Given the description of an element on the screen output the (x, y) to click on. 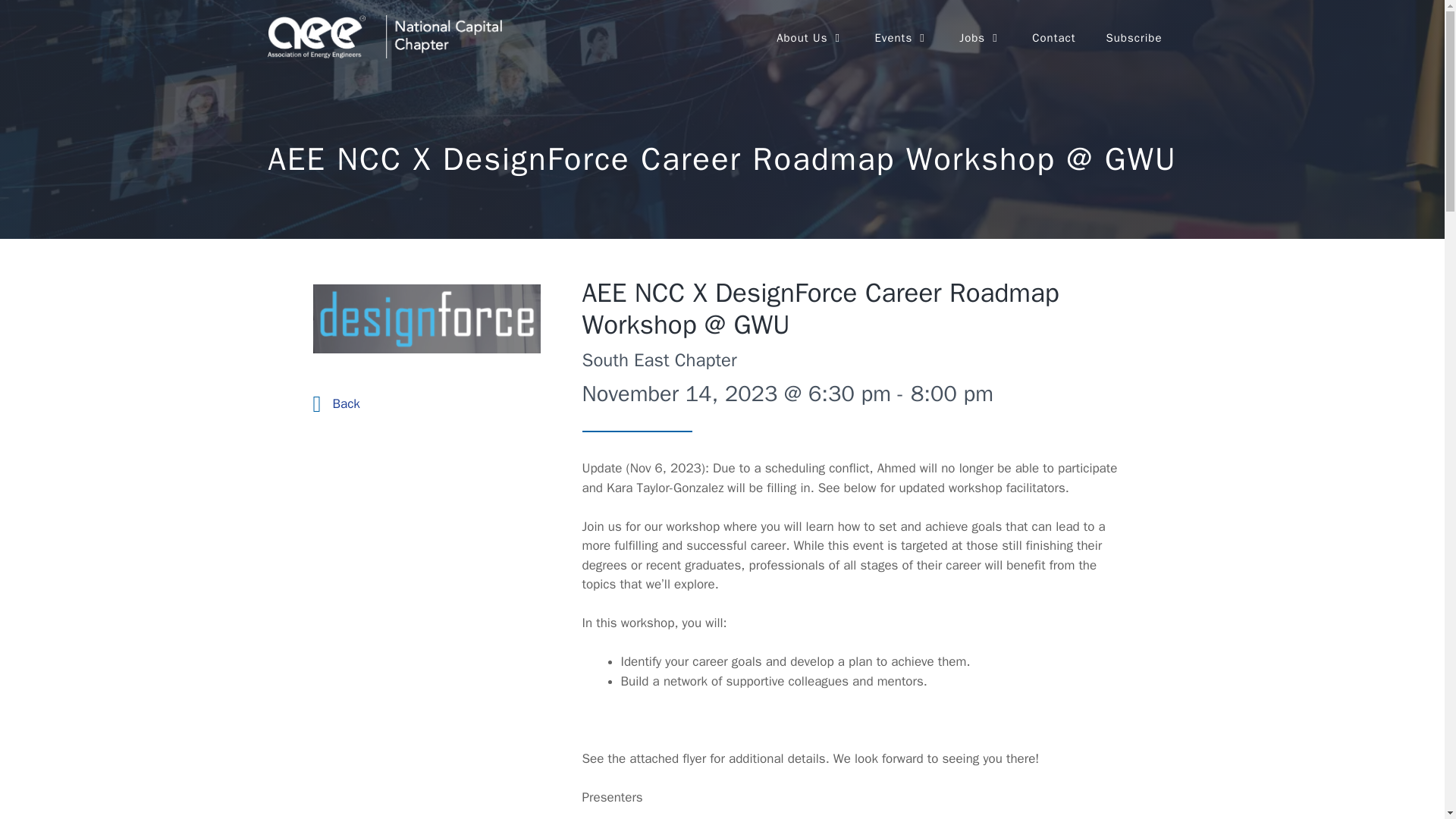
DesignForce Logo 2 (426, 318)
Subscribe (1133, 37)
Contact (1053, 37)
Back (345, 403)
Jobs (979, 37)
Events (901, 37)
About Us (810, 37)
